Given the description of an element on the screen output the (x, y) to click on. 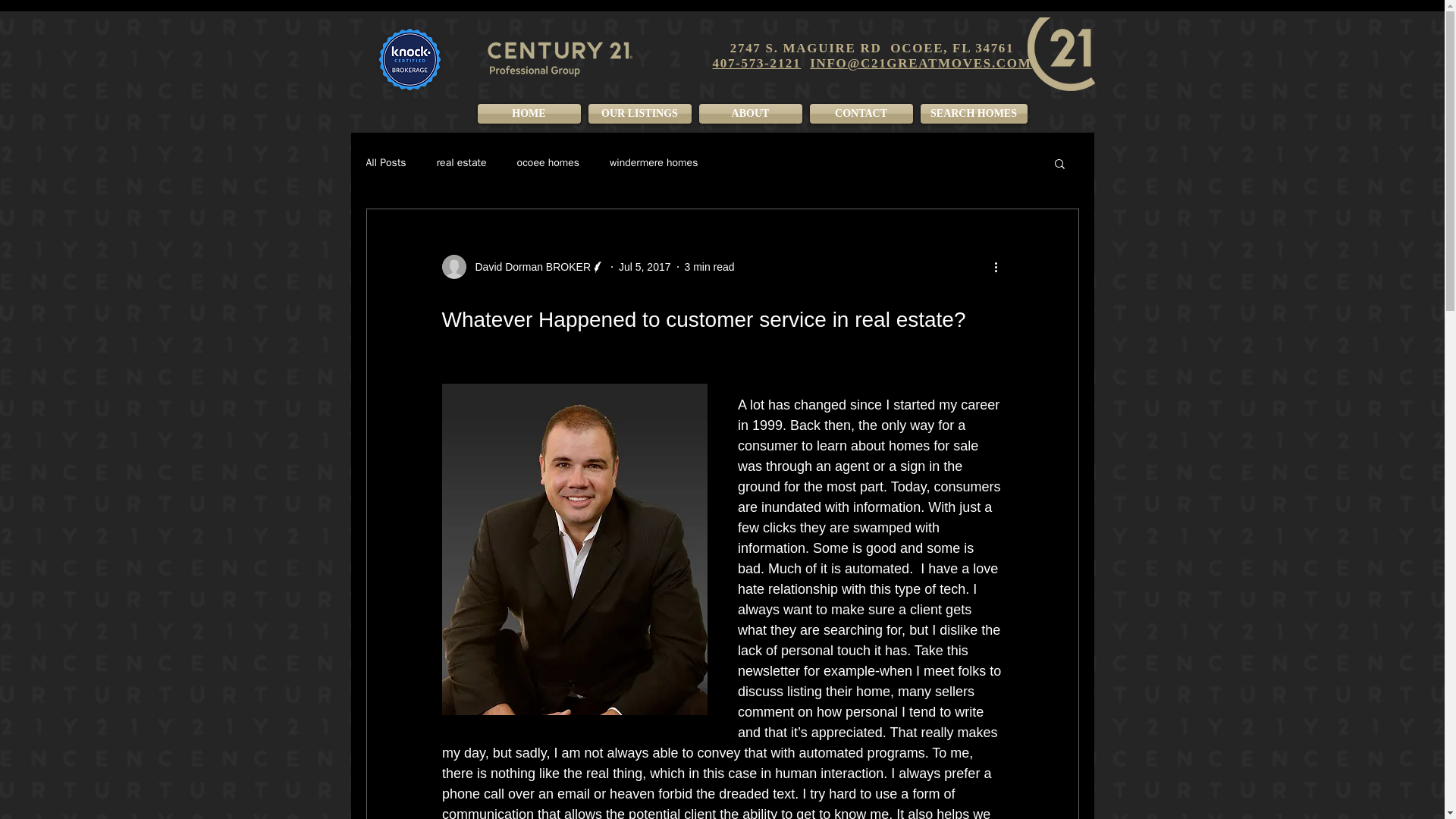
David Dorman BROKER (523, 266)
ocoee homes (547, 162)
HOME (528, 113)
OUR LISTINGS (638, 113)
windermere homes (653, 162)
ABOUT (749, 113)
real estate (461, 162)
David Dorman  BROKER (528, 267)
3 min read (708, 266)
407-573-2121 (757, 63)
Jul 5, 2017 (644, 266)
CONTACT (860, 113)
All Posts (385, 162)
SEARCH HOMES (970, 113)
